Given the description of an element on the screen output the (x, y) to click on. 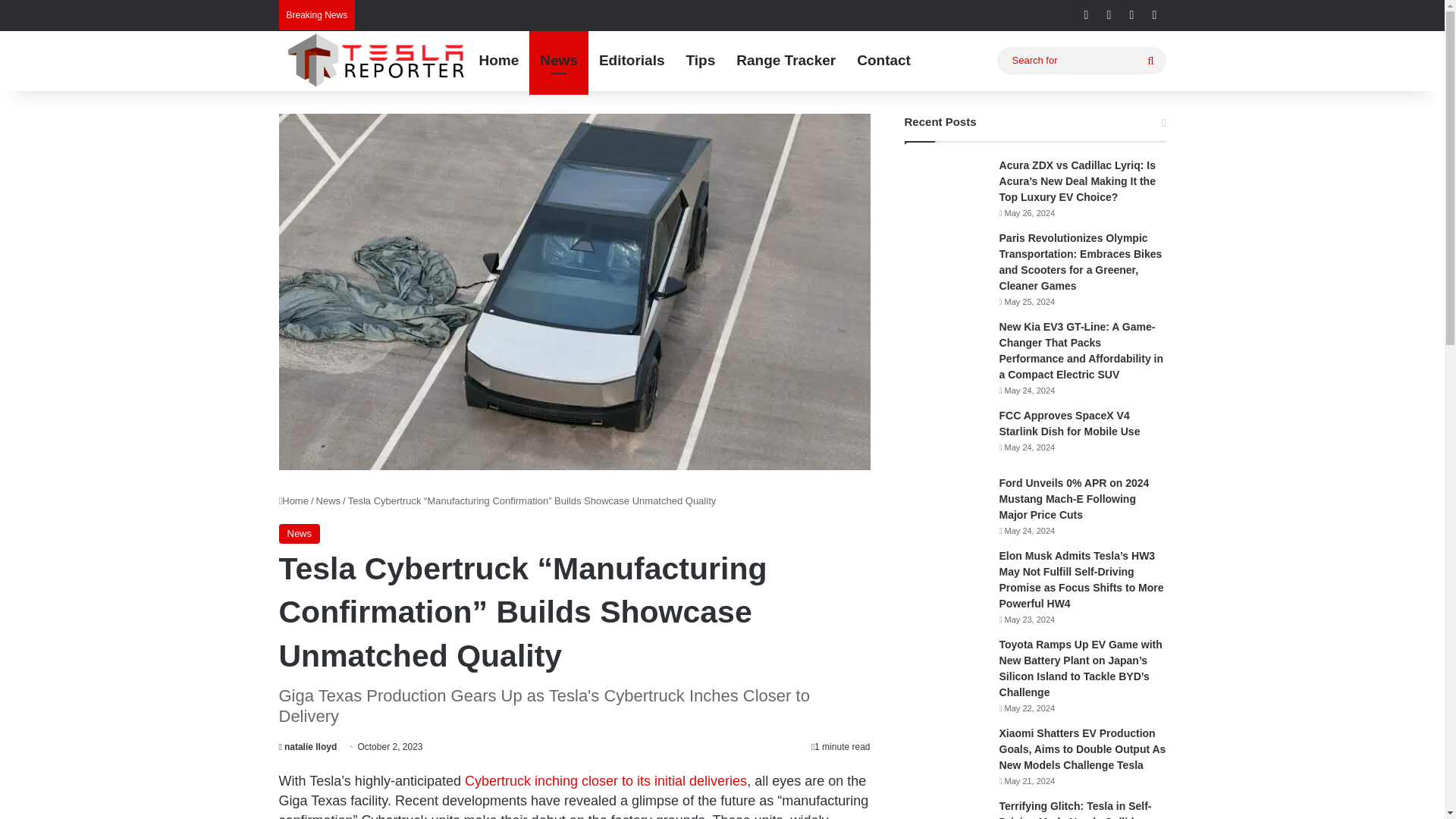
News (327, 500)
News (299, 533)
Home (498, 60)
Cybertruck inching closer to its initial deliveries (605, 780)
natalie lloyd (308, 747)
Search for (1080, 59)
Range Tracker (785, 60)
Search for (1150, 60)
Tesla Reporter (373, 60)
Contact (883, 60)
News (558, 60)
Editorials (631, 60)
Home (293, 500)
natalie lloyd (308, 747)
